Given the description of an element on the screen output the (x, y) to click on. 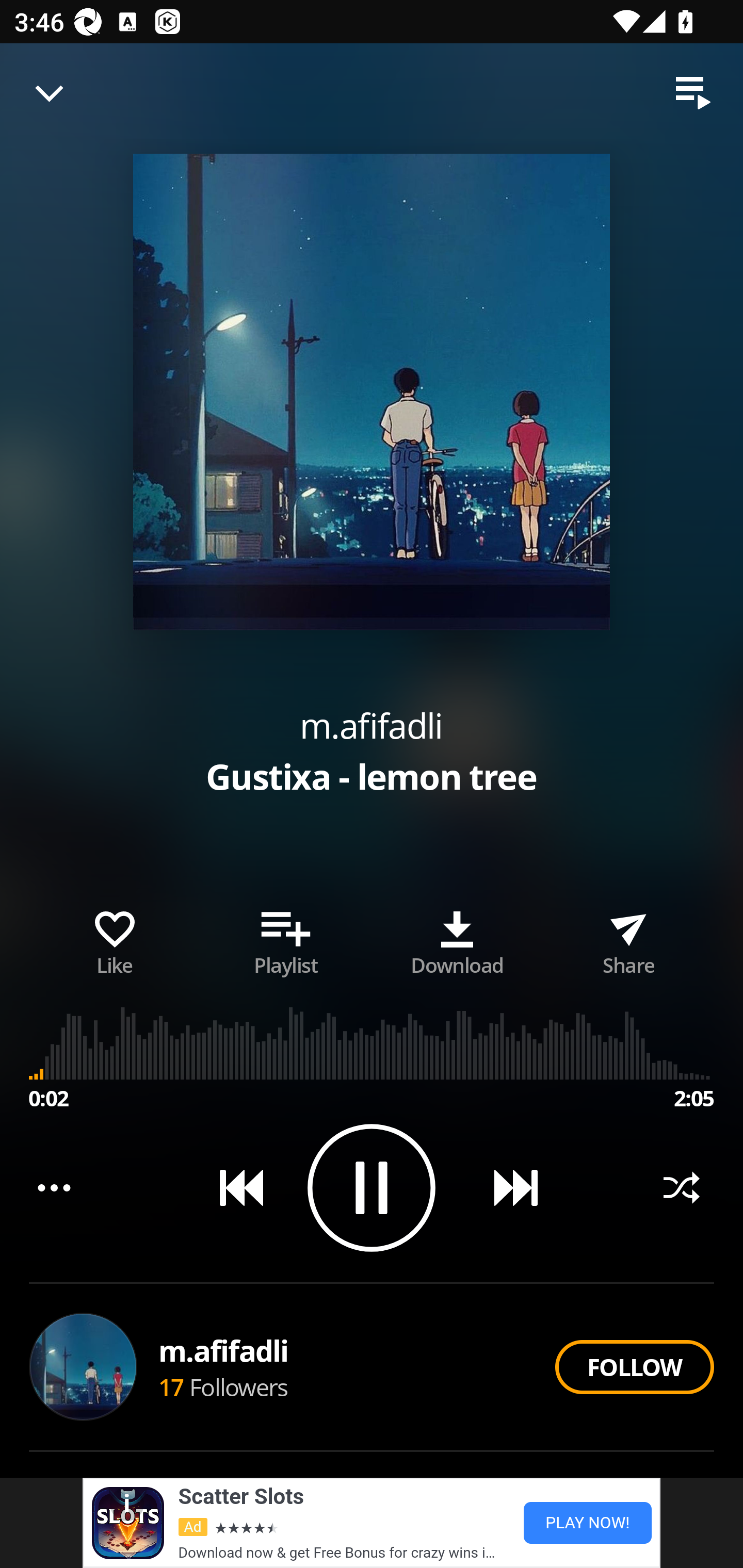
Minimise player (49, 93)
Queue (693, 93)
Album art (371, 391)
m.afifadli (370, 724)
Like (113, 939)
Add song to playlist Playlist (285, 939)
Download (457, 939)
Share (628, 939)
Play/Pause (371, 1187)
Previous song (233, 1187)
Next song (508, 1187)
m.afifadli (224, 1350)
FOLLOW Follow (634, 1366)
17 (171, 1386)
